Given the description of an element on the screen output the (x, y) to click on. 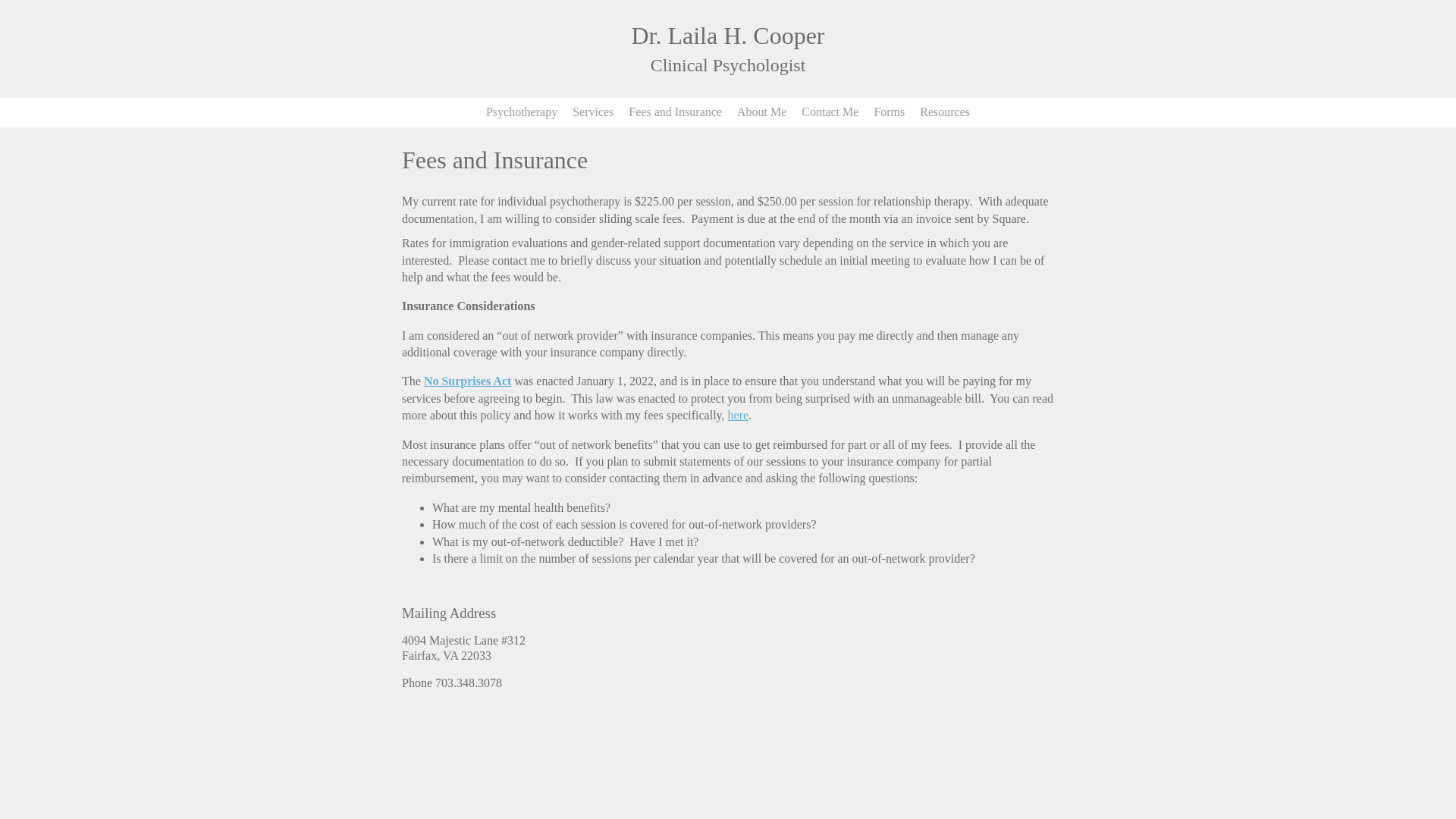
Forms (889, 111)
Fees and Insurance (675, 111)
Resources (944, 111)
here (738, 414)
Psychotherapy (521, 111)
Dr. Laila H. Cooper (727, 35)
Services (593, 111)
No Surprises Act (467, 380)
About Me (761, 111)
Contact Me (829, 111)
